Given the description of an element on the screen output the (x, y) to click on. 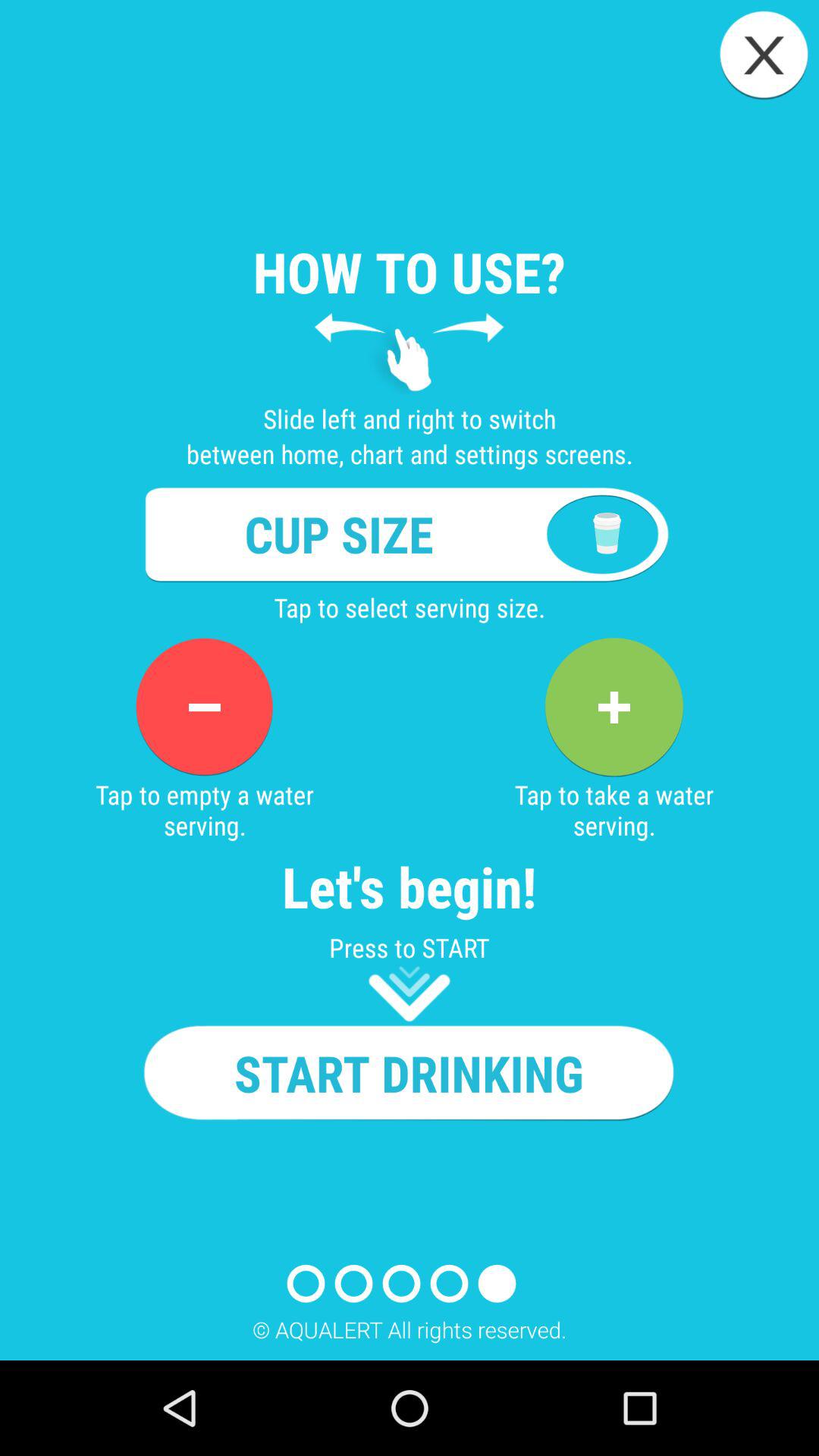
click item next to tap to take item (204, 706)
